Given the description of an element on the screen output the (x, y) to click on. 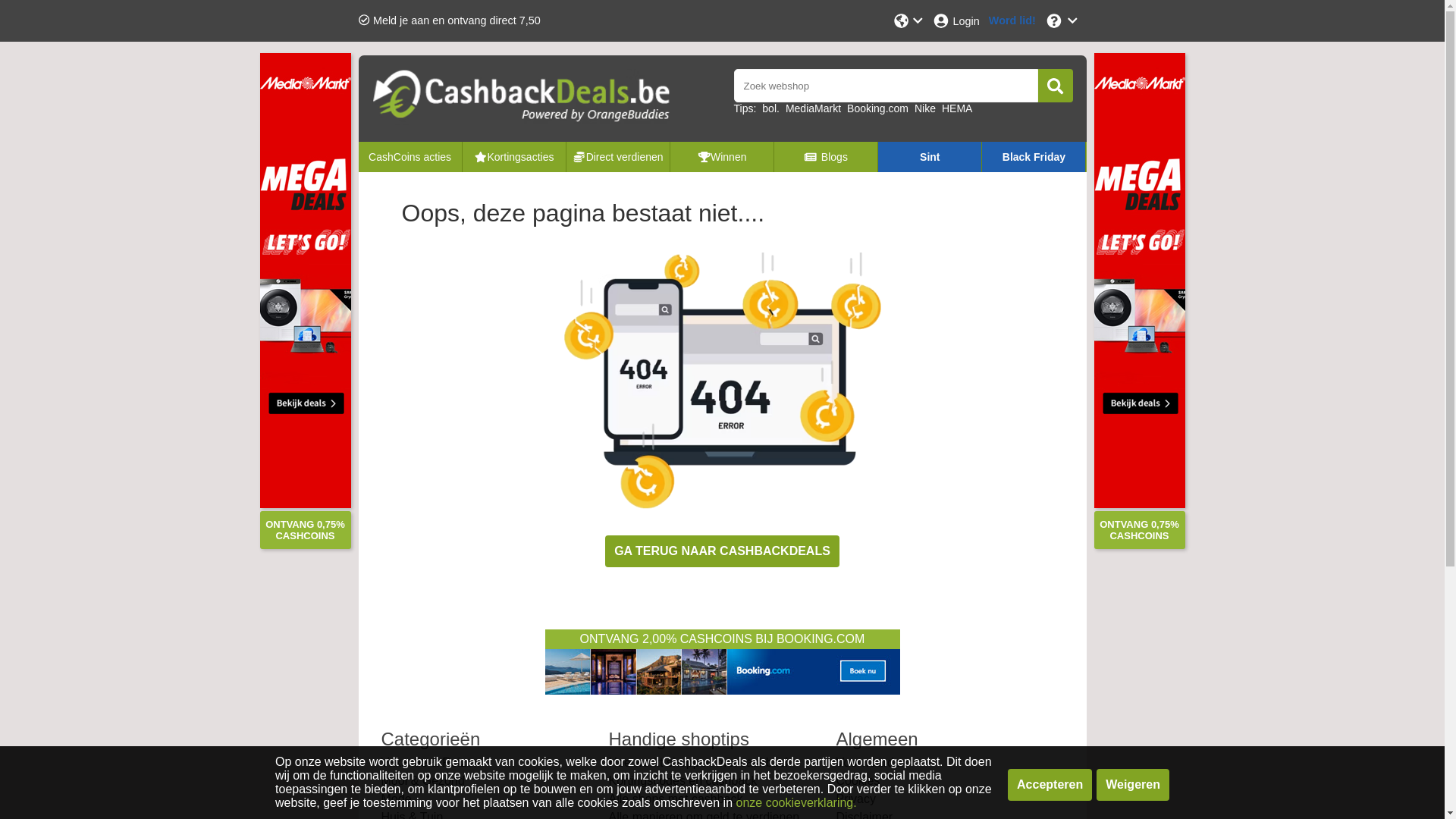
Weigeren Element type: text (1132, 784)
Login Element type: text (955, 20)
MediaMarkt Element type: text (812, 108)
Voorwaarden Element type: text (870, 762)
CashCoins acties Element type: text (409, 156)
Vakantie & Reizen Element type: text (429, 762)
Kortingsacties Element type: text (513, 156)
Mode Element type: text (395, 798)
Cookies Element type: text (857, 780)
bol. Element type: text (770, 108)
Mooi & Gezond Element type: text (422, 780)
Word lid! Element type: text (1011, 20)
Blogs Element type: text (825, 156)
Hoe werkt shoppen met cashback Element type: text (699, 762)
Kortingscodes en cashback Element type: text (682, 780)
Booking.com Element type: text (877, 108)
Help Element type: text (1060, 20)
Accepteren Element type: text (1049, 784)
Alle shops met cashback Element type: text (675, 798)
Sint Element type: text (929, 156)
Privacy Element type: text (855, 798)
onze cookieverklaring. Element type: text (795, 802)
Zoeken Element type: text (1055, 85)
GA TERUG NAAR CASHBACKDEALS Element type: text (722, 551)
Black Friday Element type: text (1033, 156)
Selecteer taal Element type: text (908, 20)
Winnen Element type: text (722, 156)
Nike Element type: text (924, 108)
ONTVANG 2,00% CASHCOINS BIJ BOOKING.COM Element type: text (721, 663)
Direct verdienen Element type: text (617, 156)
HEMA Element type: text (956, 108)
